Given the description of an element on the screen output the (x, y) to click on. 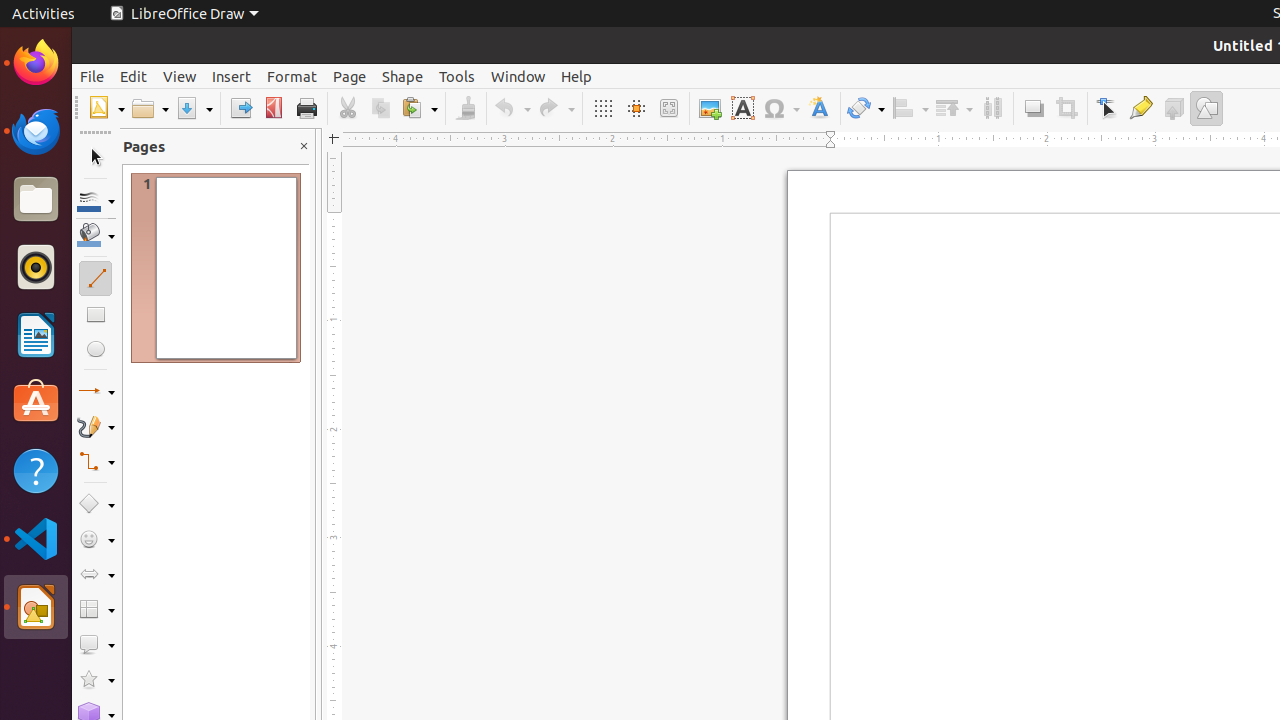
Line Color Element type: push-button (96, 200)
View Element type: menu (179, 76)
Image Element type: push-button (709, 108)
Edit Points Element type: push-button (1107, 108)
Grid Element type: toggle-button (602, 108)
